Given the description of an element on the screen output the (x, y) to click on. 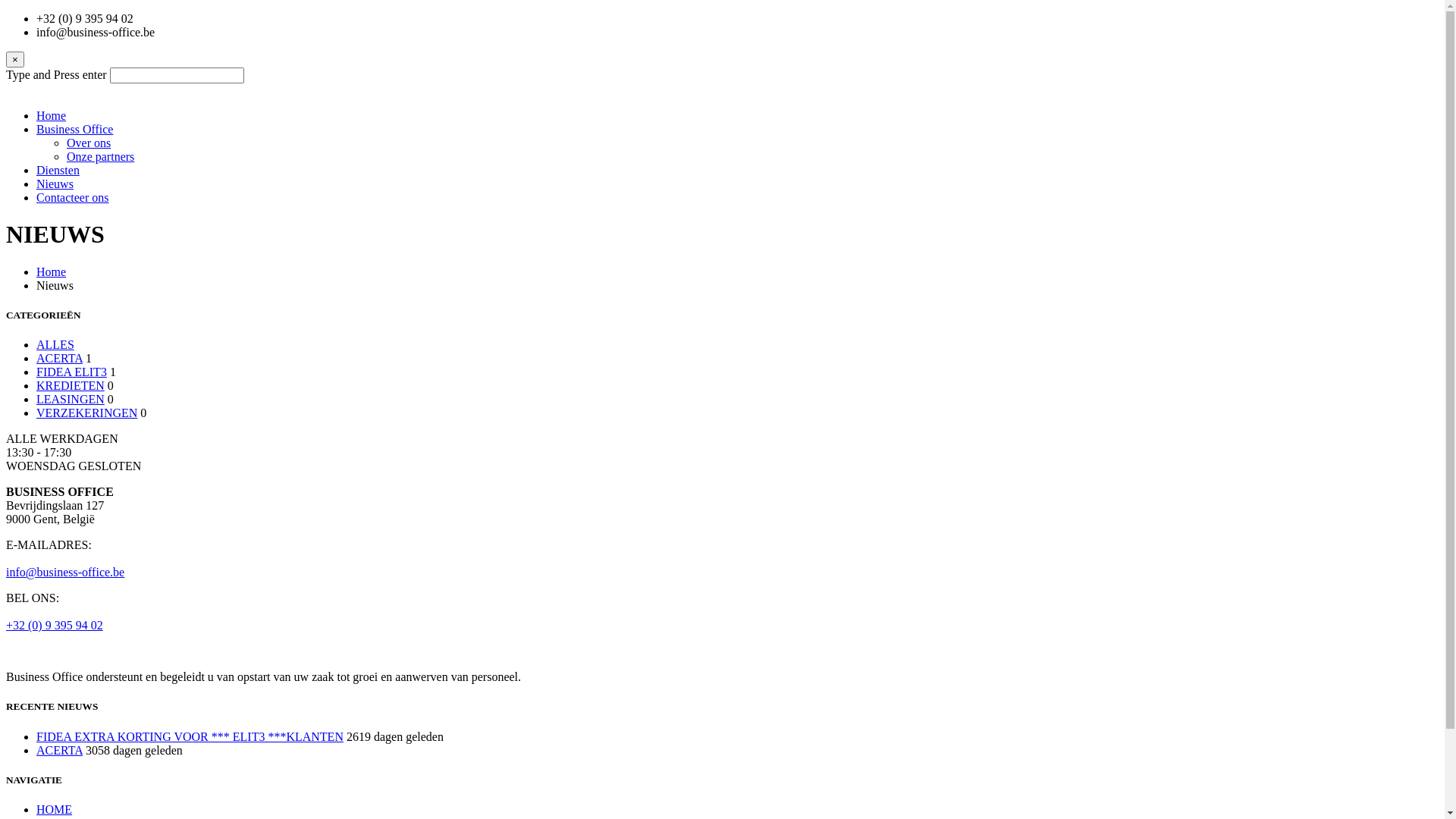
Over ons Element type: text (88, 142)
ACERTA Element type: text (59, 749)
ALLES Element type: text (55, 344)
Contacteer ons Element type: text (72, 197)
KREDIETEN Element type: text (70, 385)
ACERTA Element type: text (59, 357)
+32 (0) 9 395 94 02 Element type: text (54, 624)
Business Office Element type: text (74, 128)
Home Element type: text (50, 115)
FIDEA EXTRA KORTING VOOR *** ELIT3 ***KLANTEN Element type: text (189, 736)
VERZEKERINGEN Element type: text (86, 412)
LEASINGEN Element type: text (70, 398)
HOME Element type: text (54, 809)
Onze partners Element type: text (100, 156)
Home Element type: text (50, 271)
Diensten Element type: text (57, 169)
Nieuws Element type: text (54, 183)
info@business-office.be Element type: text (65, 571)
FIDEA ELIT3 Element type: text (71, 371)
